Given the description of an element on the screen output the (x, y) to click on. 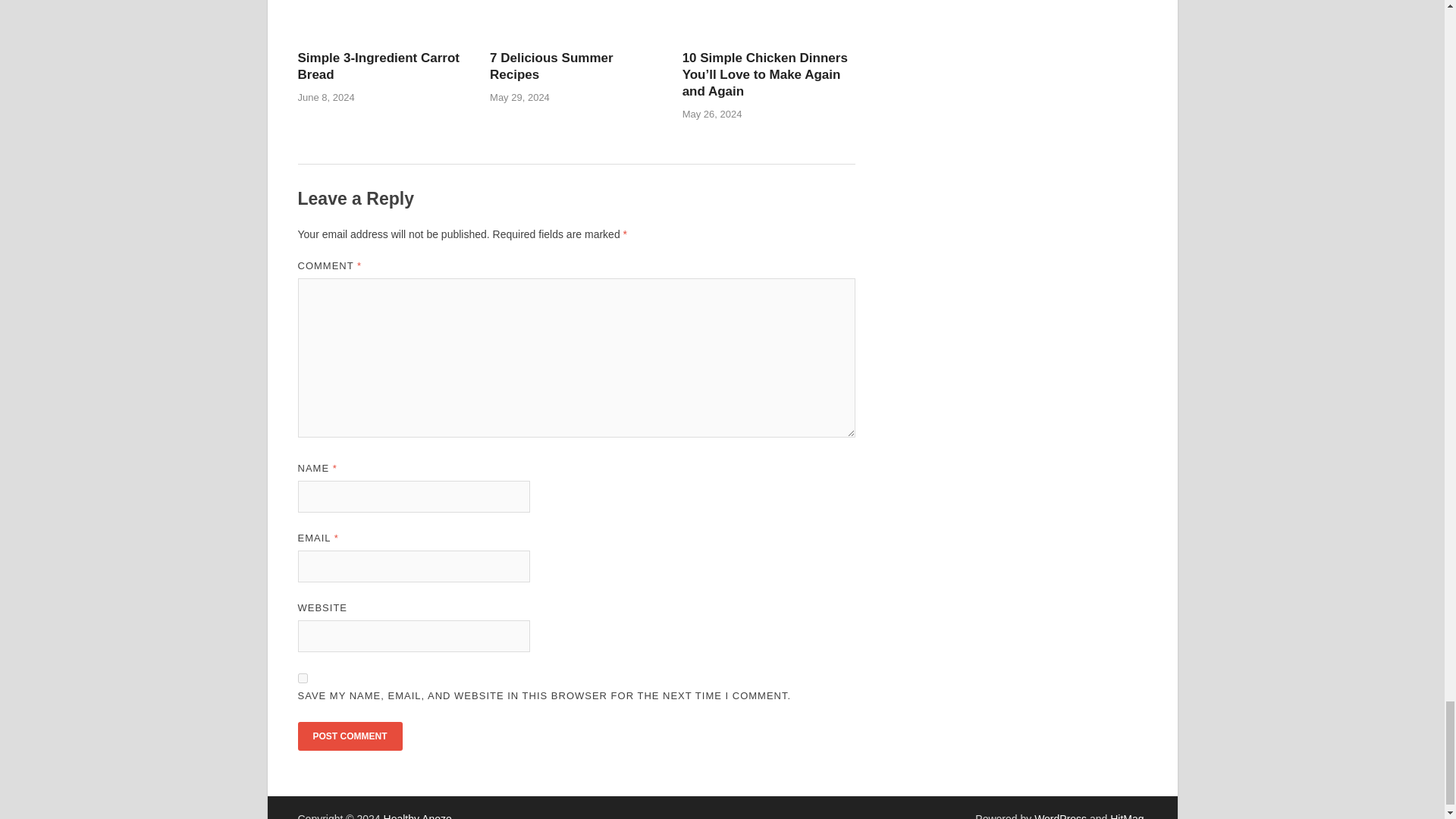
yes (302, 678)
7 Delicious Summer Recipes (550, 65)
Simple 3-Ingredient Carrot Bread (377, 65)
Post Comment (349, 736)
